Given the description of an element on the screen output the (x, y) to click on. 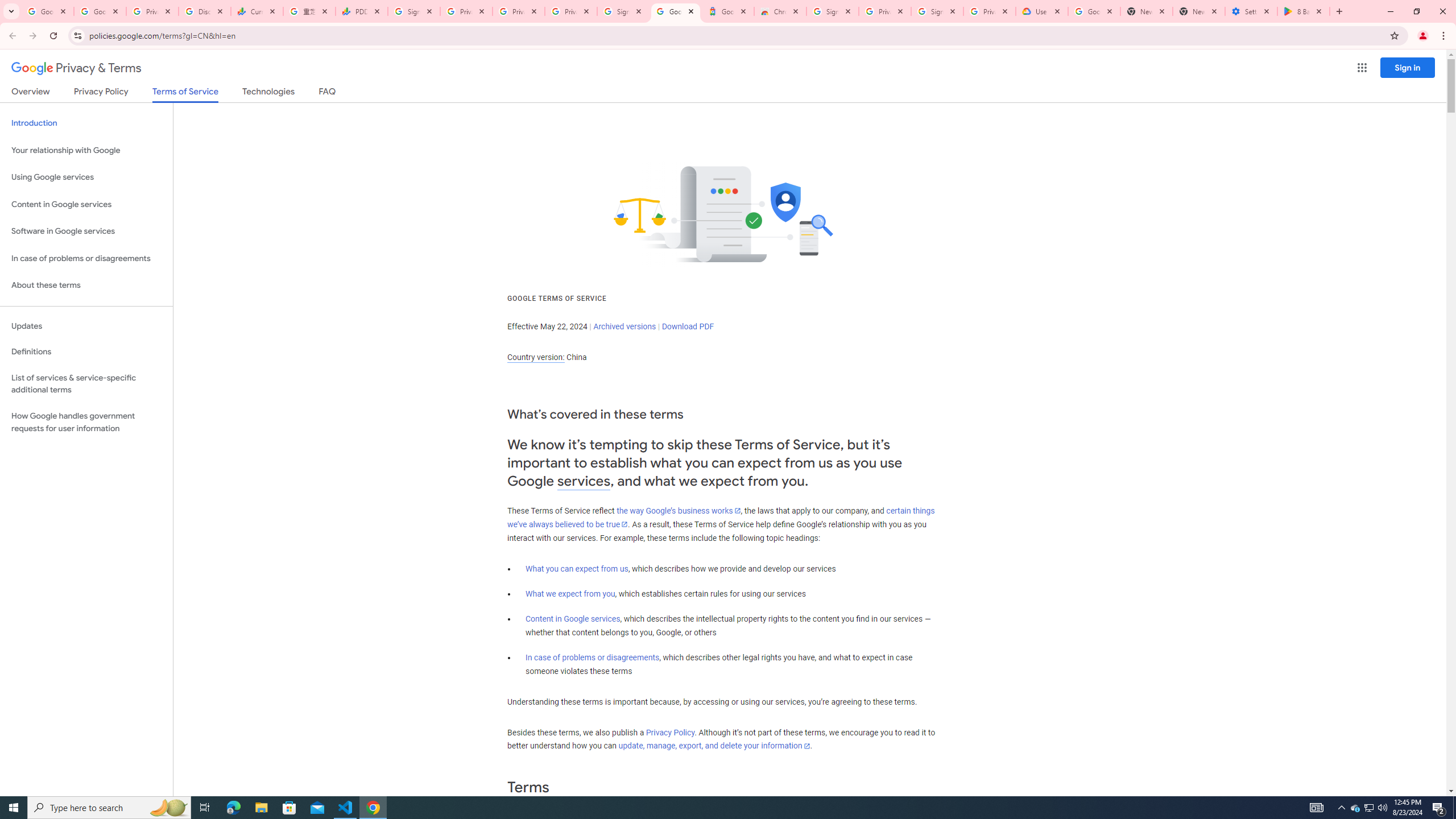
Sign in - Google Accounts (623, 11)
Your relationship with Google (86, 150)
Currencies - Google Finance (256, 11)
8 Ball Pool - Apps on Google Play (1303, 11)
Using Google services (86, 176)
What you can expect from us (576, 568)
